Given the description of an element on the screen output the (x, y) to click on. 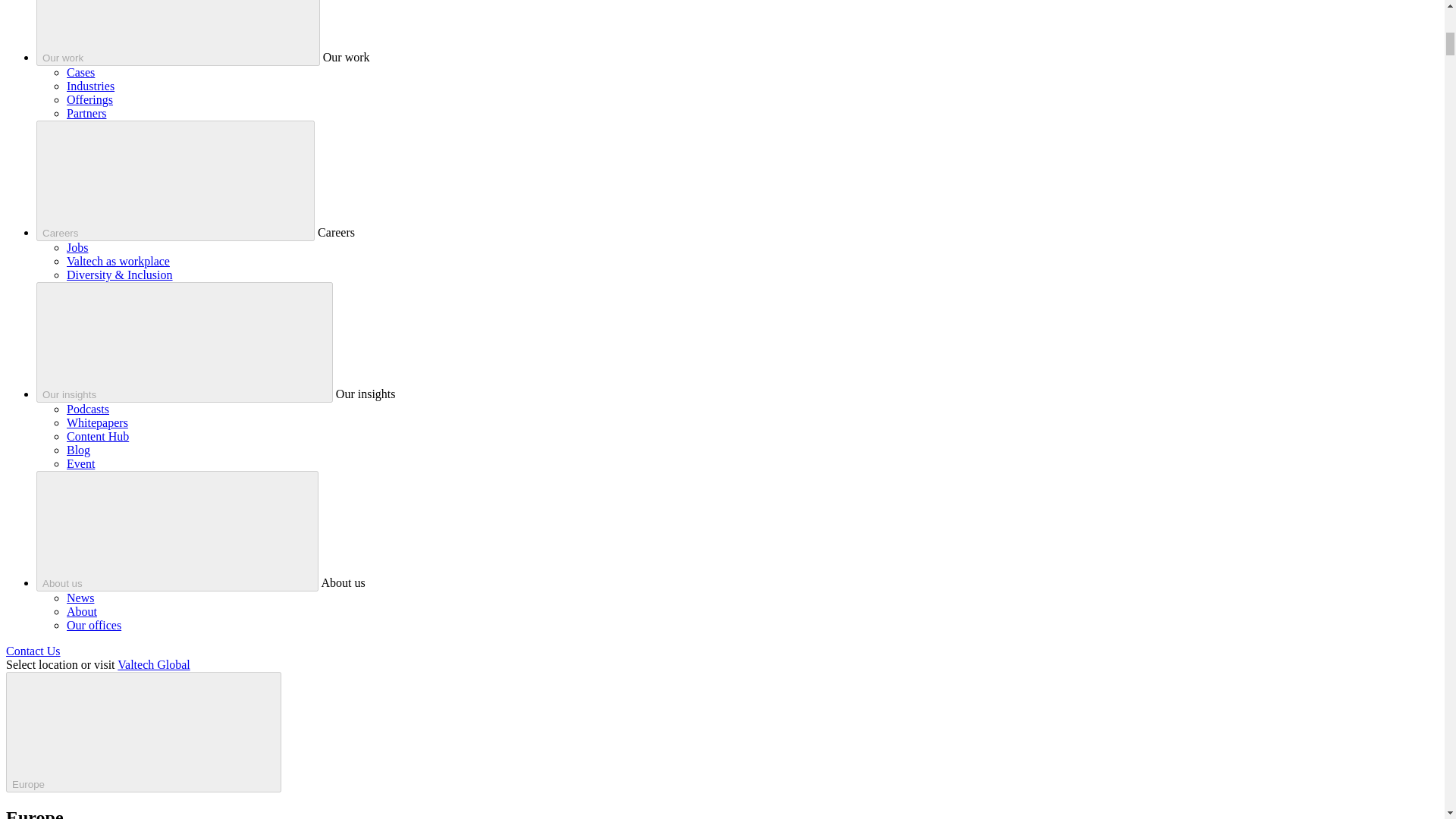
About (81, 611)
Blog (78, 449)
Jobs (76, 246)
Cases (80, 72)
Event (80, 463)
Our offices (93, 625)
Partners (86, 113)
Offerings (89, 99)
Our work (178, 33)
Podcasts (87, 408)
Contact Us (33, 650)
Whitepapers (97, 422)
Europe (143, 731)
Industries (90, 85)
Content Hub (97, 436)
